Given the description of an element on the screen output the (x, y) to click on. 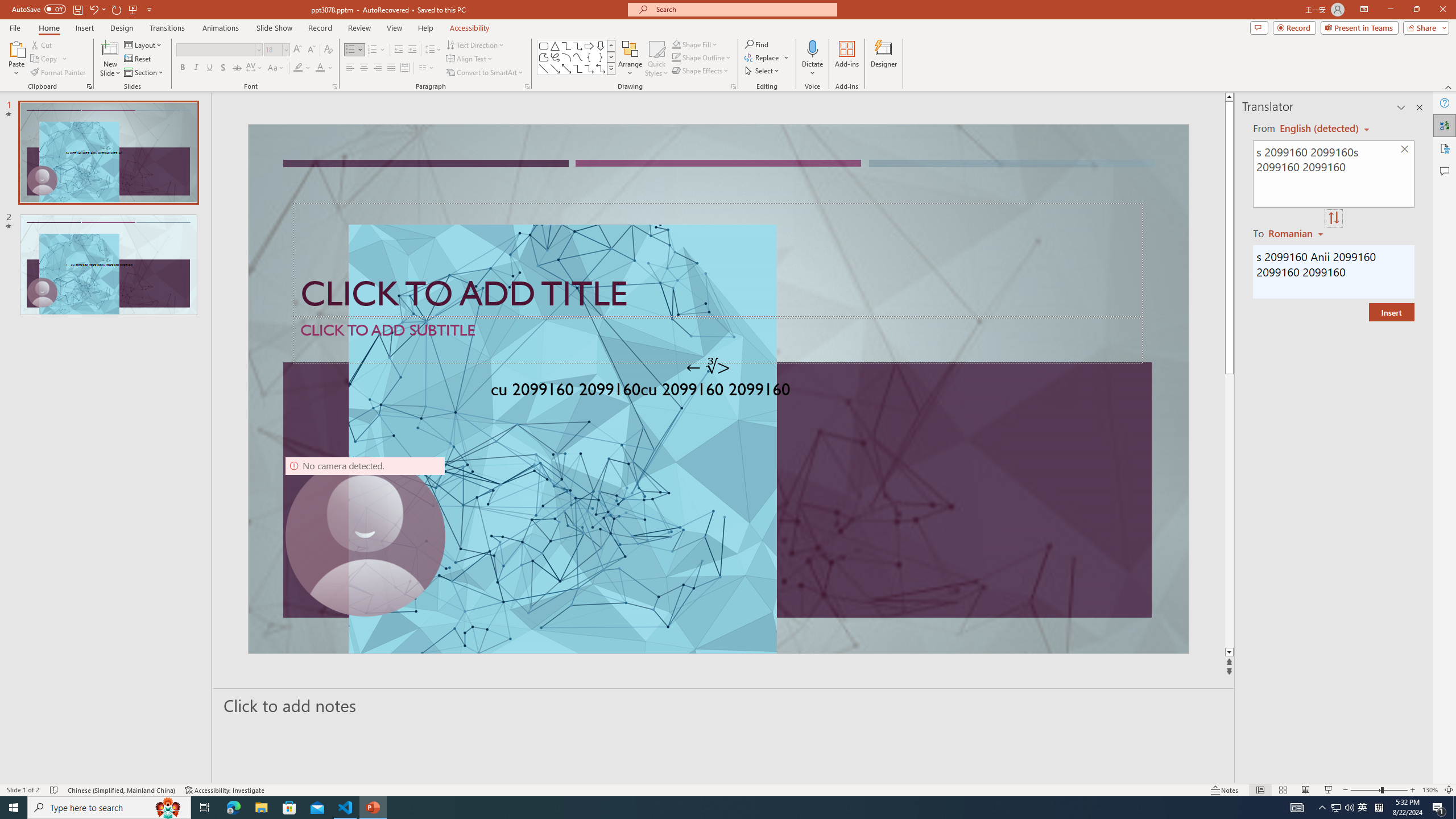
Shape Fill Dark Green, Accent 2 (675, 44)
